Given the description of an element on the screen output the (x, y) to click on. 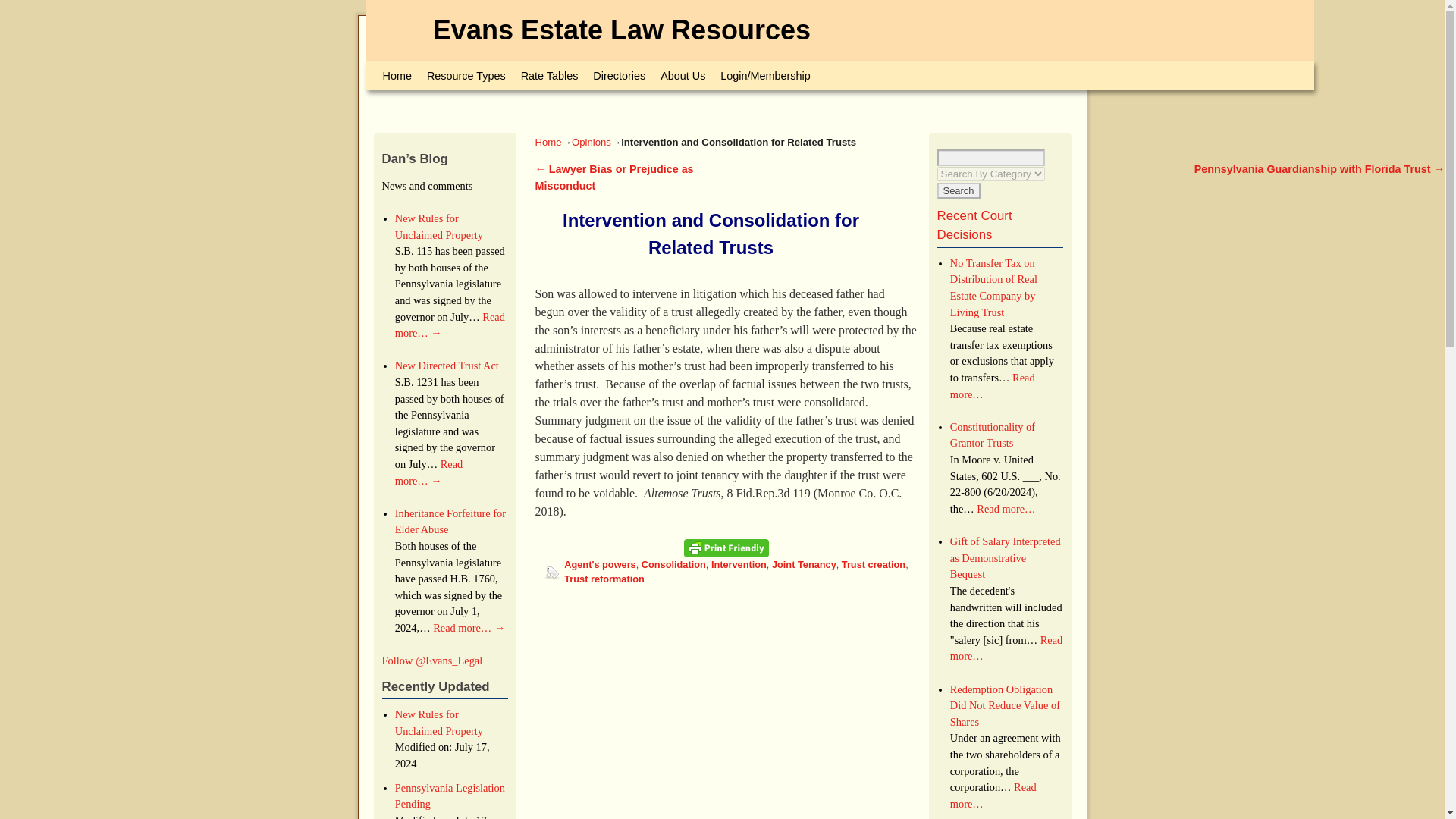
Search (958, 190)
Evans Estate Law Resources (621, 29)
Skip to primary content (411, 68)
Rate Tables (549, 75)
Directories (618, 75)
Evans Estate Law Resources (621, 29)
Skip to secondary content (415, 68)
About Us (682, 75)
Resource Types (466, 75)
Home (396, 75)
